Given the description of an element on the screen output the (x, y) to click on. 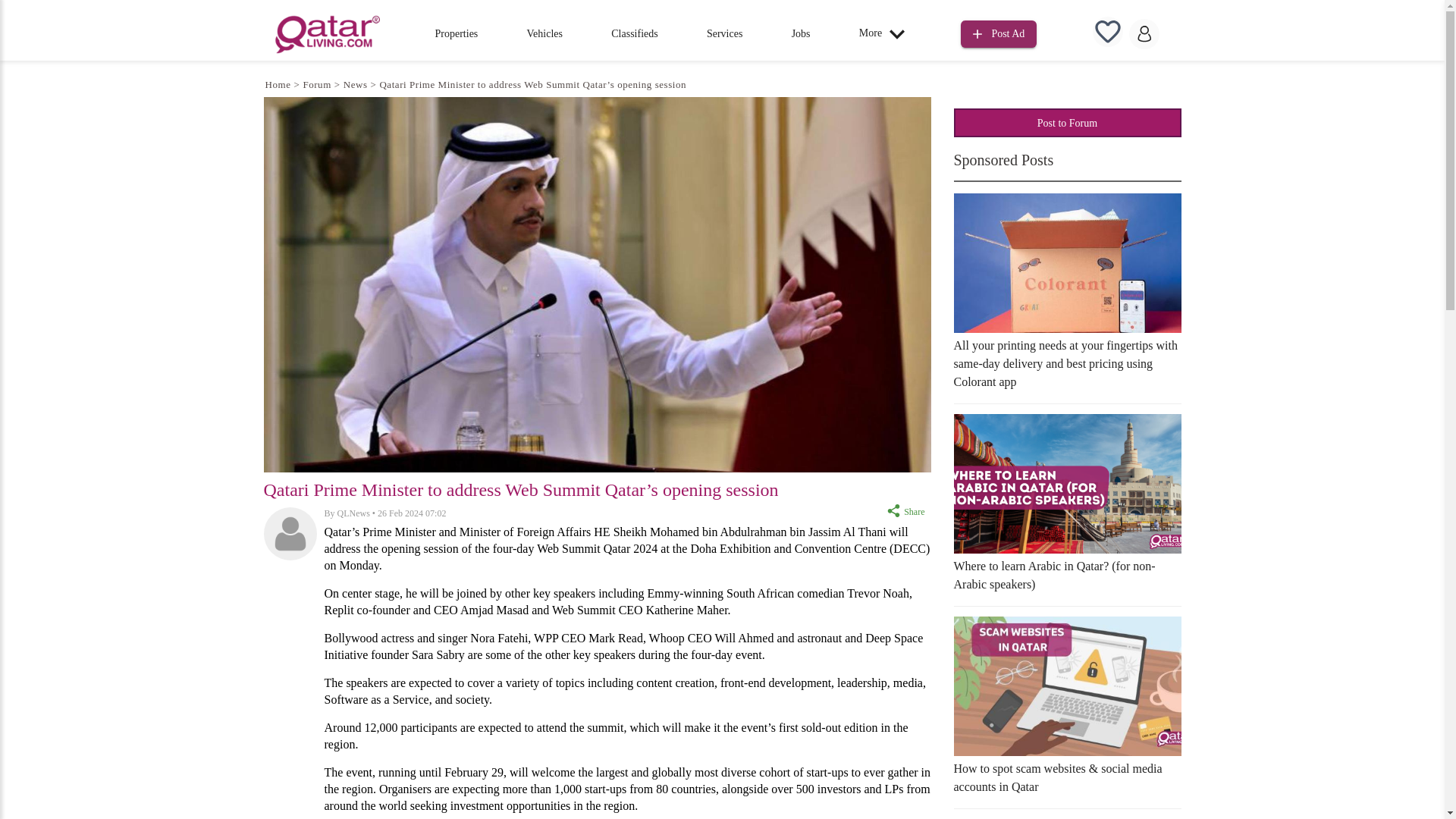
More (885, 33)
View user profile. (353, 512)
Post Ad (998, 34)
Post Ad (998, 32)
Classifieds (634, 33)
